Given the description of an element on the screen output the (x, y) to click on. 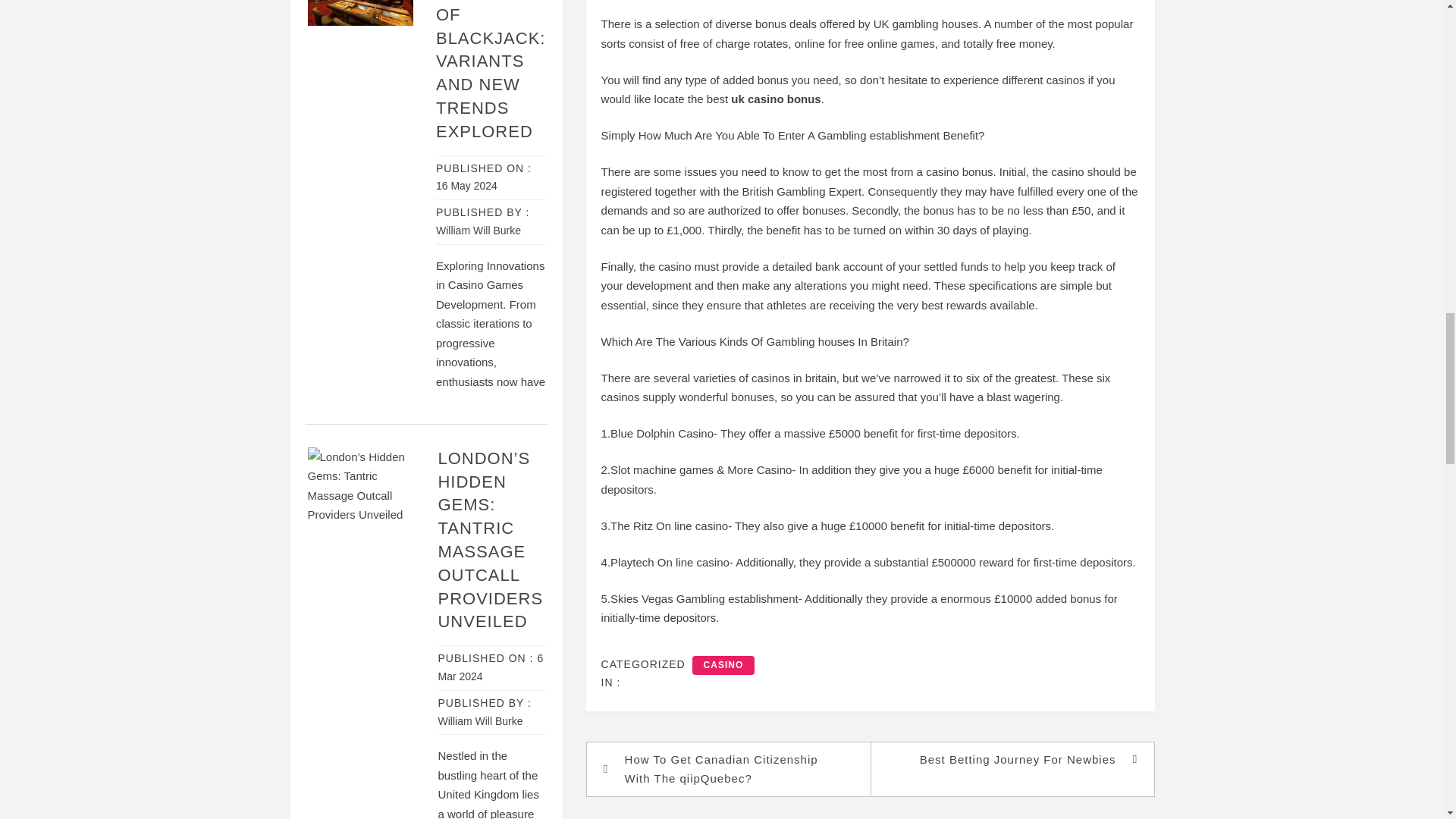
William Will Burke (478, 230)
How To Get Canadian Citizenship With The qiipQuebec? (735, 769)
William Will Burke (480, 720)
Best Betting Journey For Newbies (1004, 759)
CASINO (724, 665)
